Given the description of an element on the screen output the (x, y) to click on. 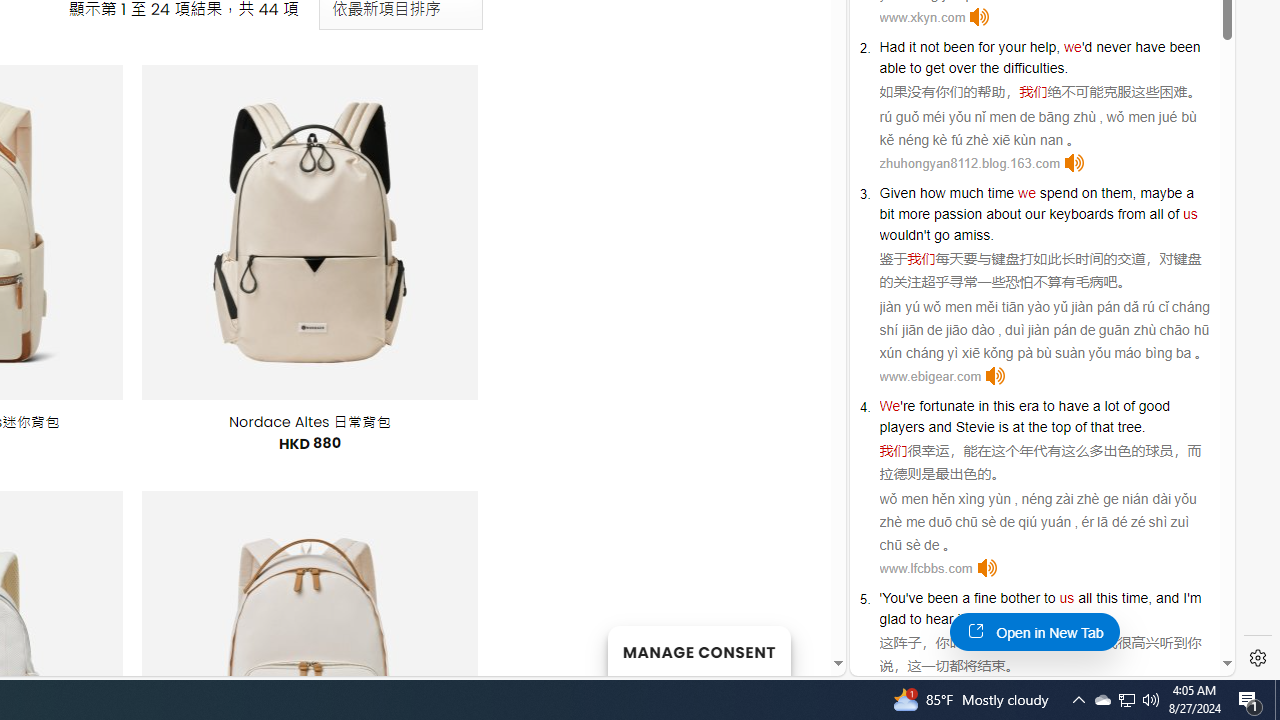
a bit (1036, 203)
and (940, 426)
of (1173, 213)
You (893, 597)
keyboards (1081, 213)
. (1060, 619)
glad (892, 619)
a (966, 597)
we (1026, 192)
